Given the description of an element on the screen output the (x, y) to click on. 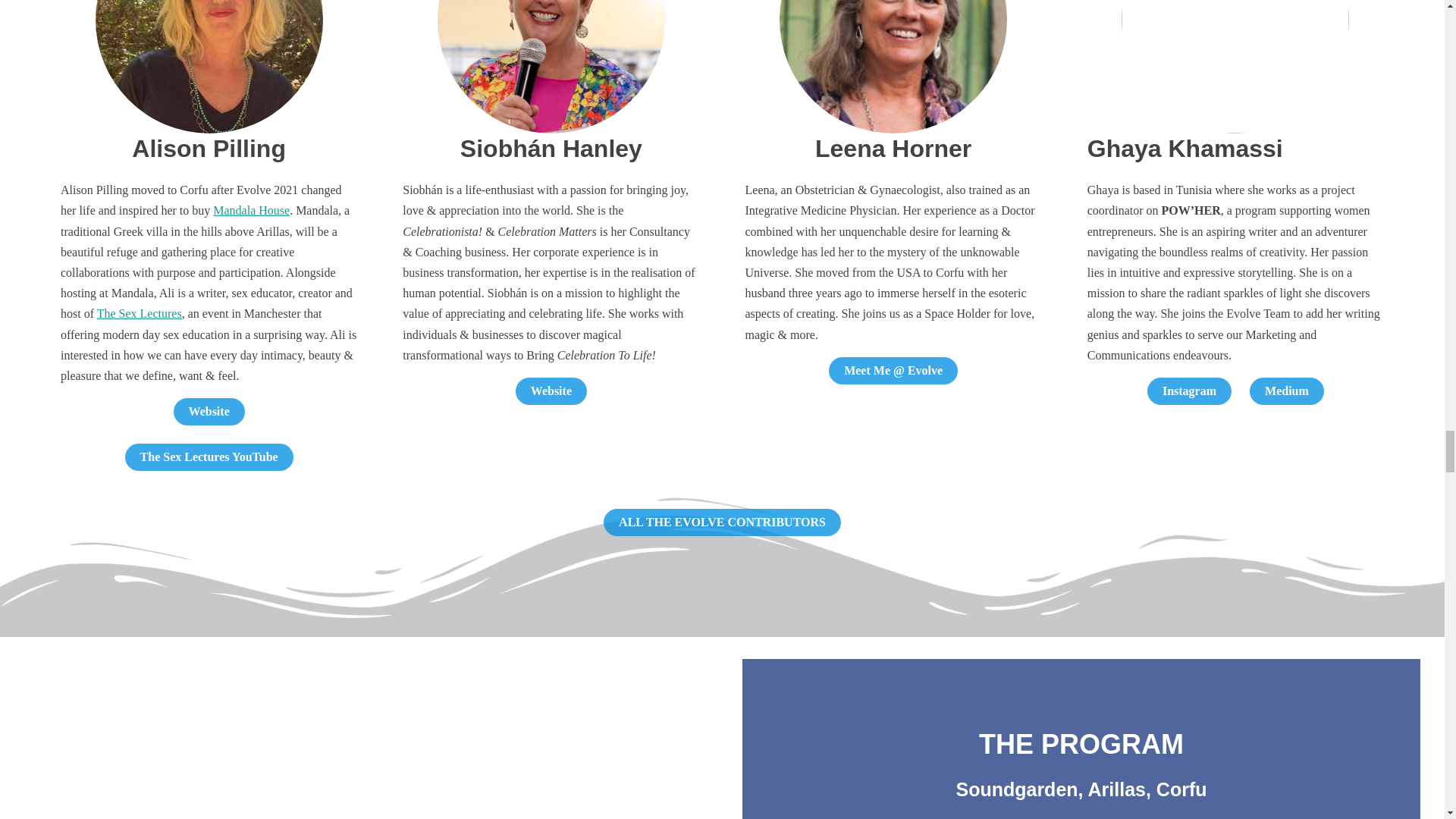
ATHANASIA (1235, 66)
ATHANASIA (892, 66)
ATHANASIA (209, 66)
ATHANASIA (551, 66)
